Given the description of an element on the screen output the (x, y) to click on. 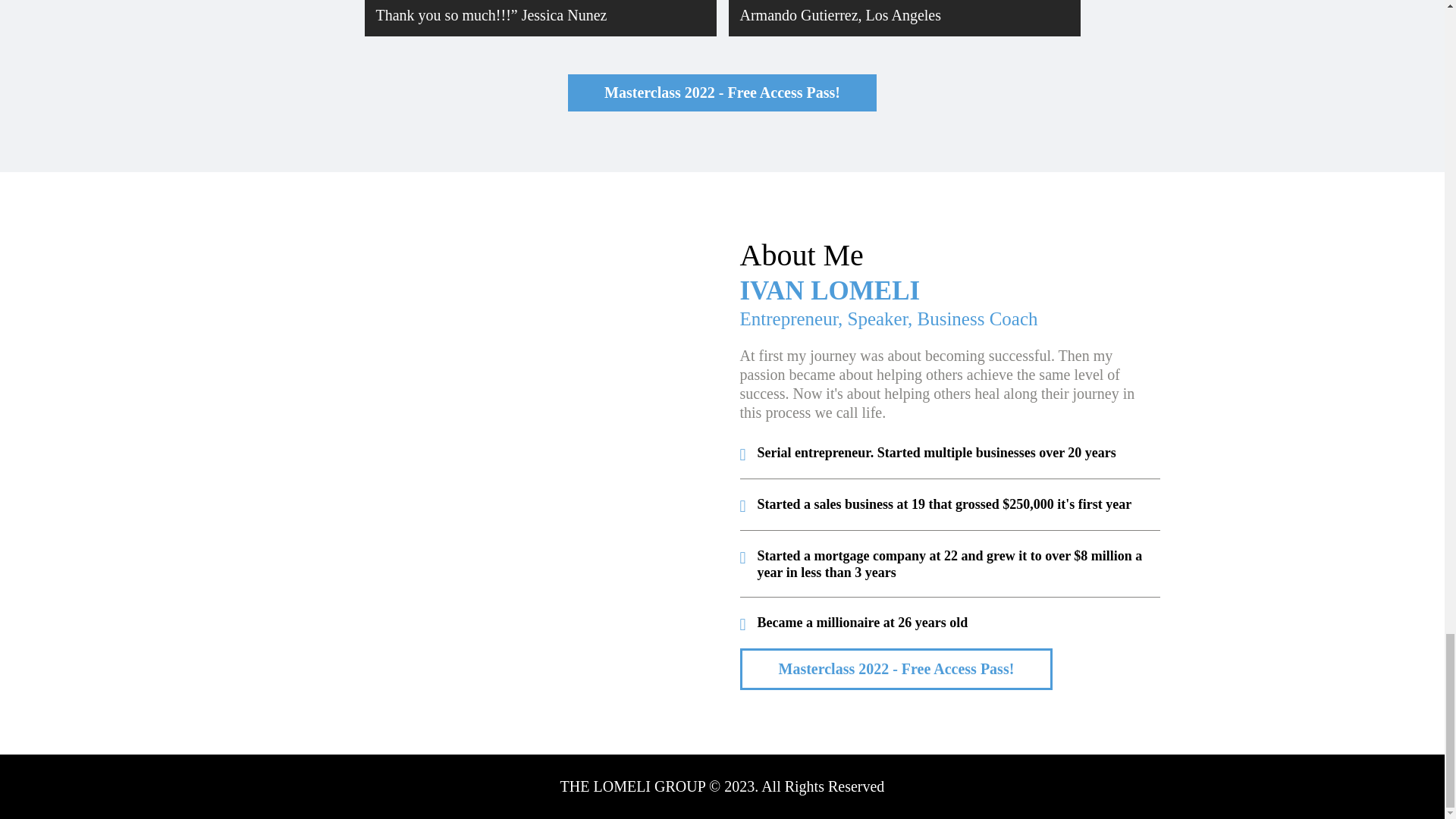
Masterclass 2022 - Free Access Pass! (895, 668)
Masterclass 2022 - Free Access Pass! (721, 92)
